Given the description of an element on the screen output the (x, y) to click on. 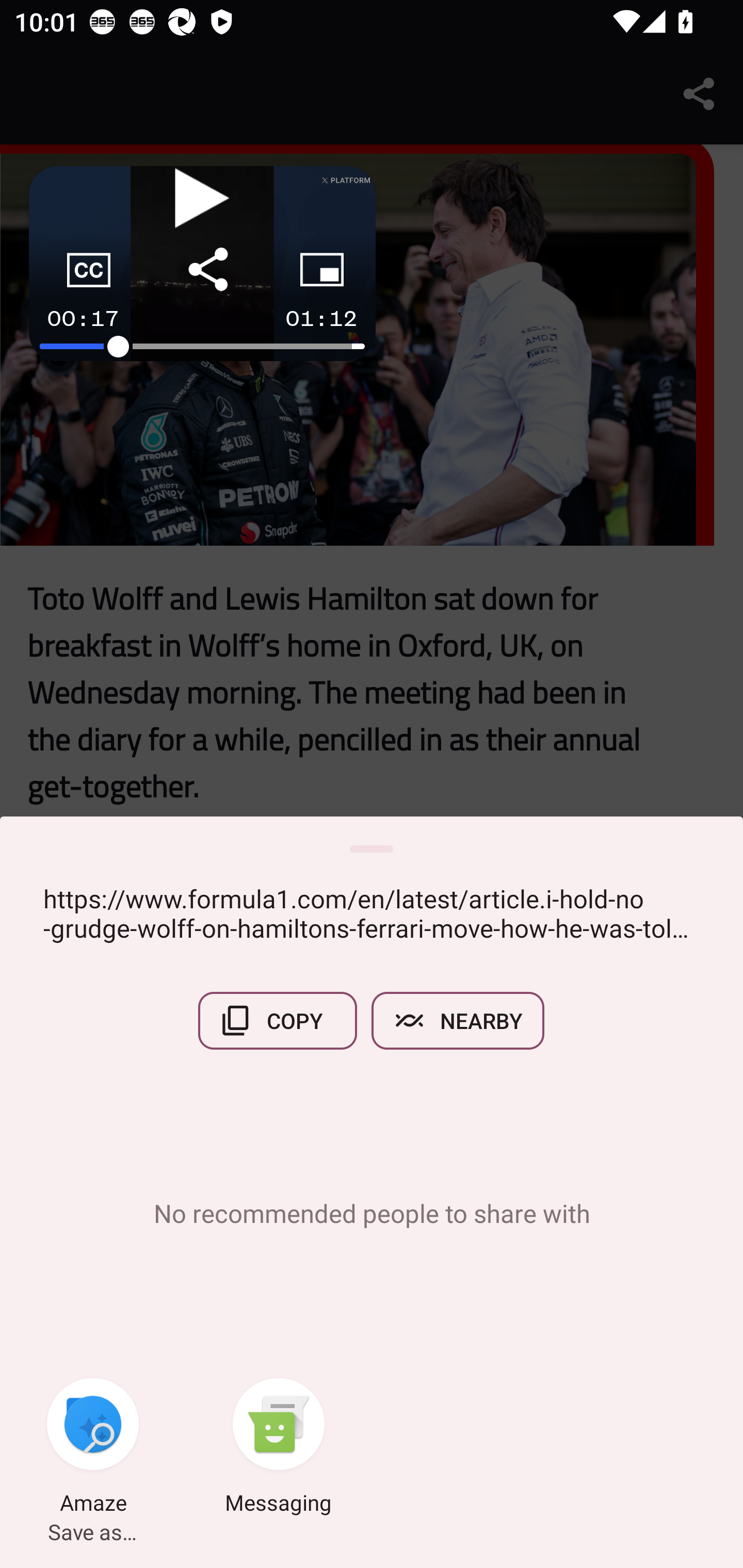
COPY (277, 1020)
NEARBY (457, 1020)
Amaze Save as… (92, 1448)
Messaging (278, 1448)
